Given the description of an element on the screen output the (x, y) to click on. 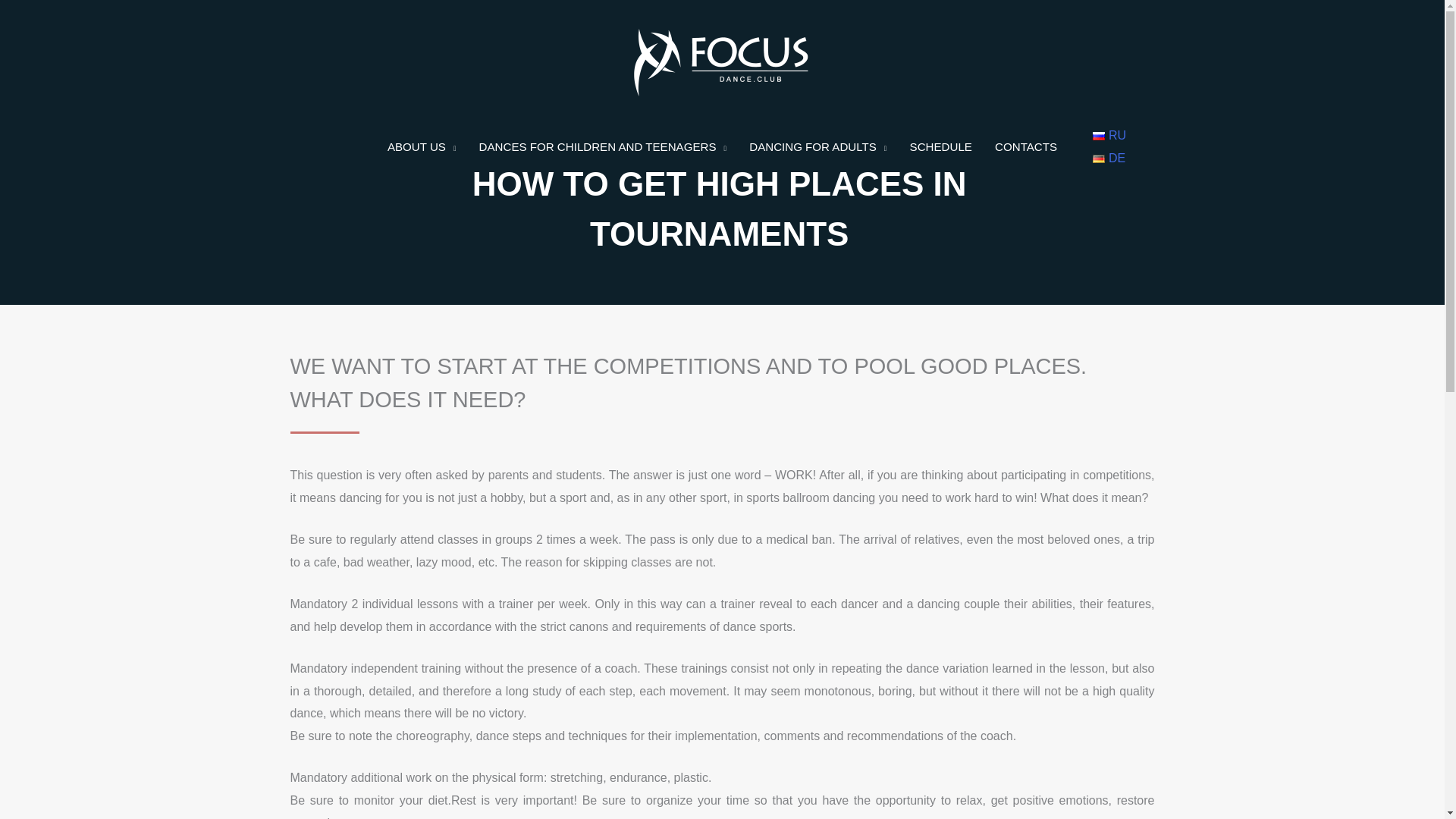
DANCING FOR ADULTS (818, 146)
SCHEDULE (941, 146)
DANCES FOR CHILDREN AND TEENAGERS (602, 146)
CONTACTS (1026, 146)
DE (1109, 157)
ABOUT US (421, 146)
RU (1109, 134)
